Given the description of an element on the screen output the (x, y) to click on. 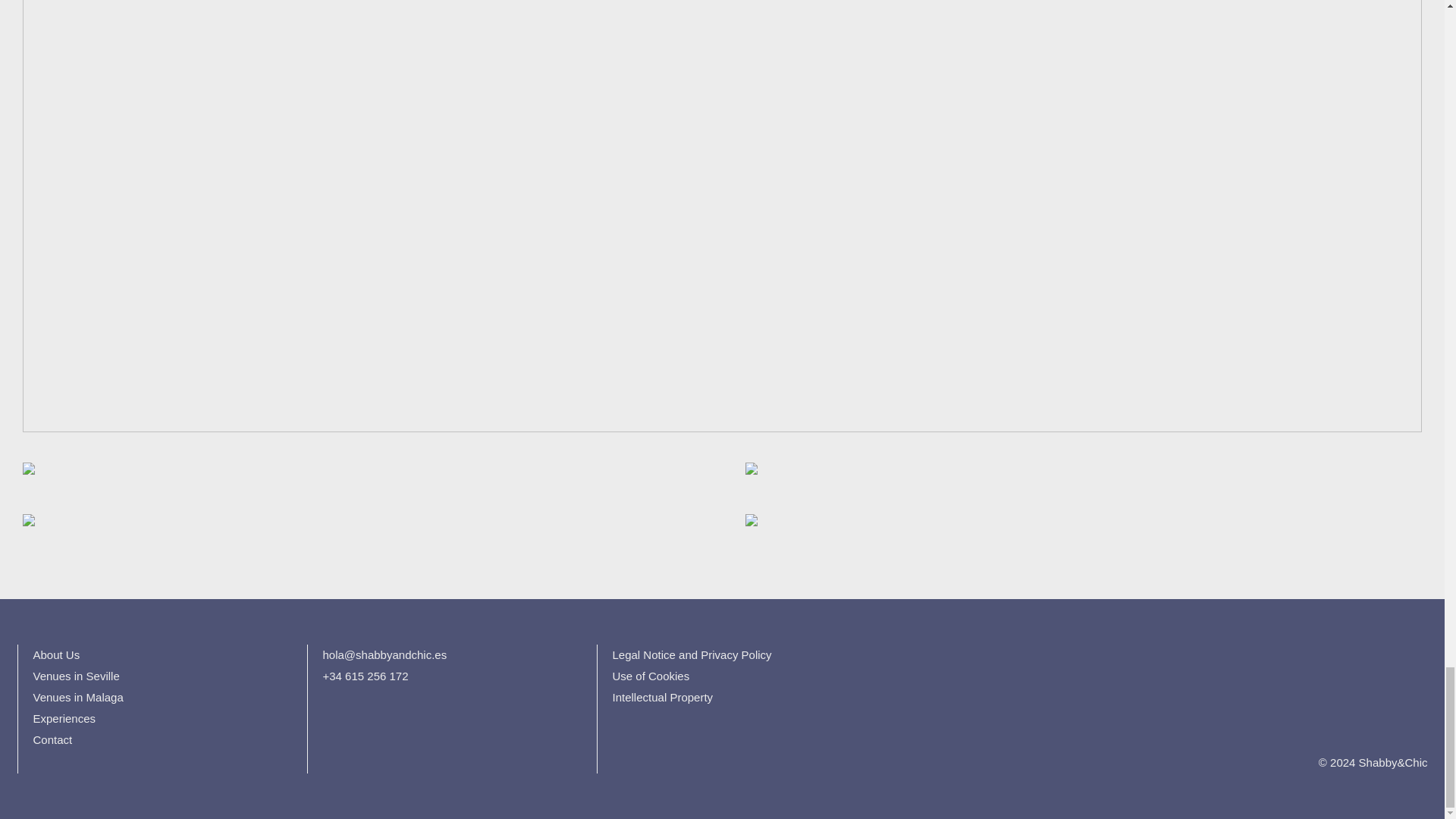
Barreduela de la Cruz (743, 473)
Venues in Seville (76, 675)
Barreduela de la Cruz (36, 473)
Barreduela de la Cruz (1075, 480)
Barreduela de la Cruz (368, 532)
About Us (56, 654)
Barreduela de la Cruz (368, 480)
Venues in Malaga (78, 697)
Barreduela de la Cruz (36, 524)
Barreduela de la Cruz (743, 524)
